Given the description of an element on the screen output the (x, y) to click on. 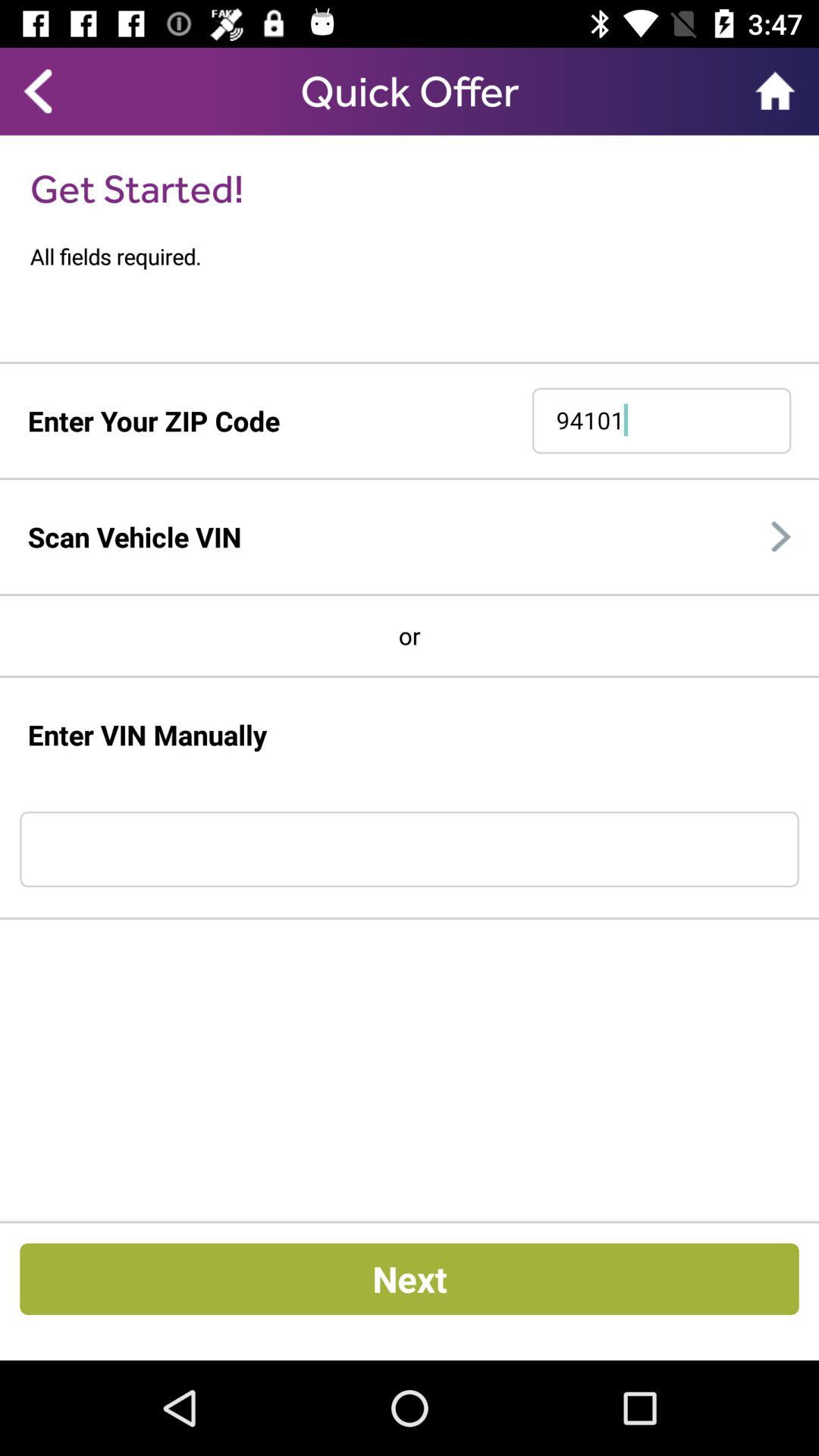
scroll until the or icon (409, 635)
